Given the description of an element on the screen output the (x, y) to click on. 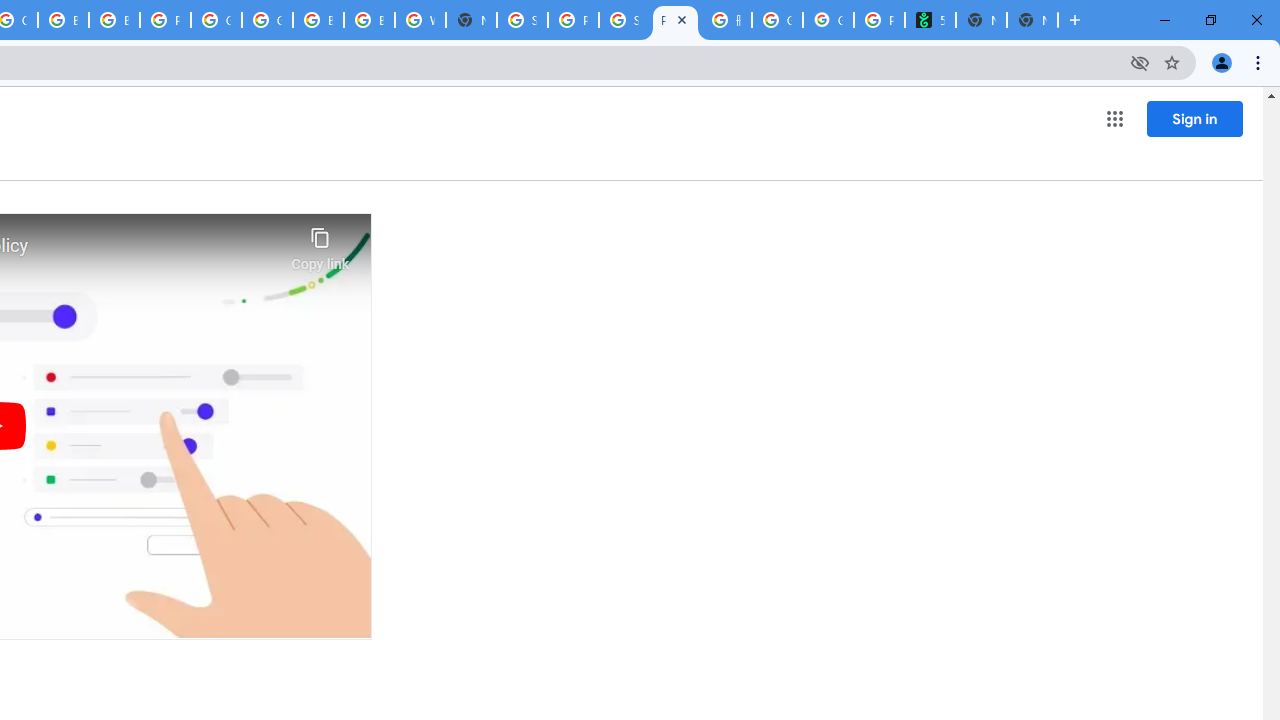
Google Cloud Platform (267, 20)
Google Cloud Platform (215, 20)
Browse Chrome as a guest - Computer - Google Chrome Help (369, 20)
Sign in - Google Accounts (521, 20)
Browse Chrome as a guest - Computer - Google Chrome Help (113, 20)
